Given the description of an element on the screen output the (x, y) to click on. 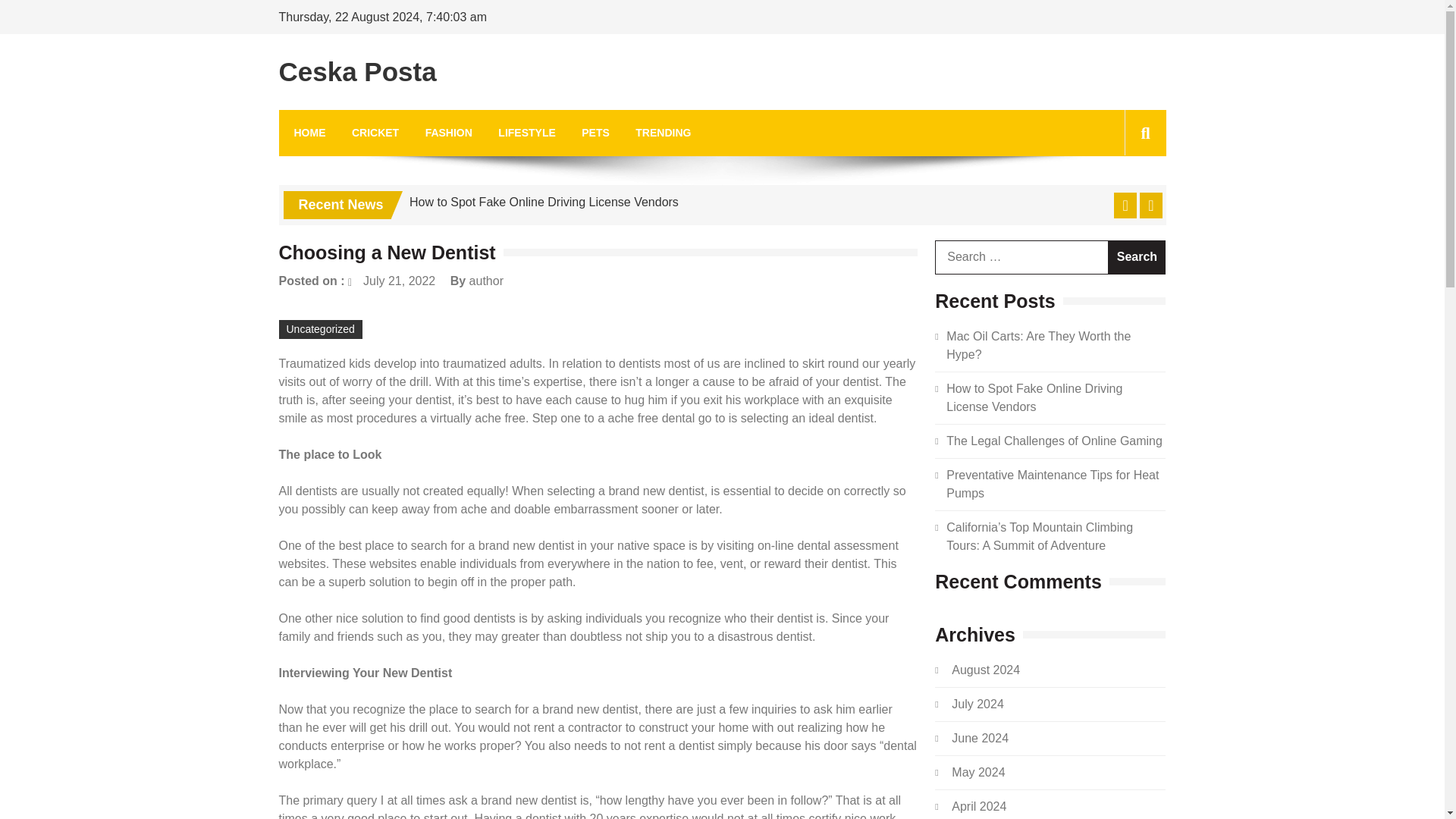
How to Spot Fake Online Driving License Vendors (543, 201)
Search (1137, 257)
CRICKET (375, 132)
TRENDING (662, 132)
Search (1137, 257)
Mac Oil Carts: Are They Worth the Hype? (1038, 345)
FASHION (448, 132)
How to Spot Fake Online Driving License Vendors (1034, 397)
Posts by author (485, 280)
The Legal Challenges of Online Gaming (1053, 440)
